Given the description of an element on the screen output the (x, y) to click on. 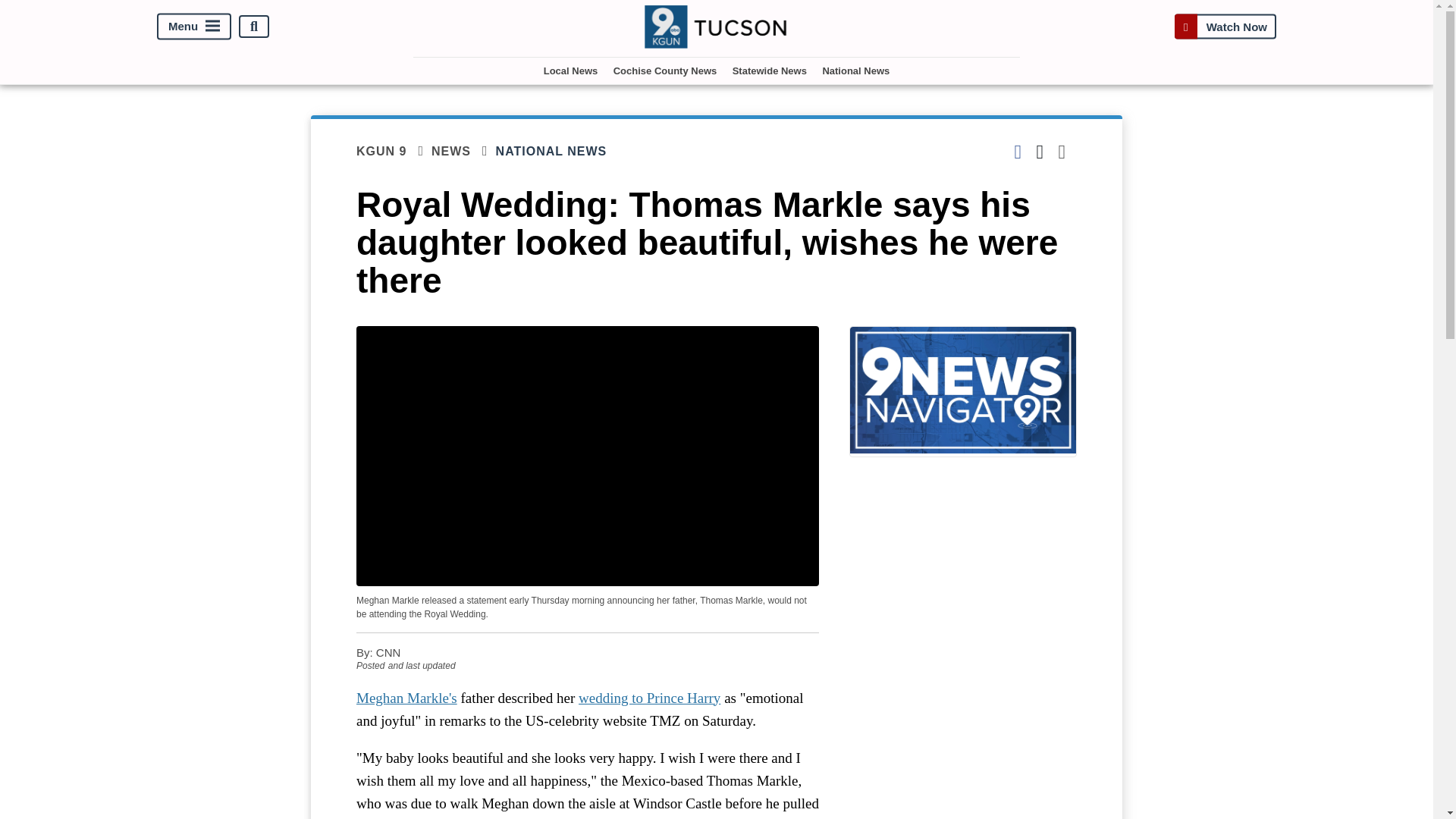
Watch Now (1224, 26)
Menu (194, 26)
